Given the description of an element on the screen output the (x, y) to click on. 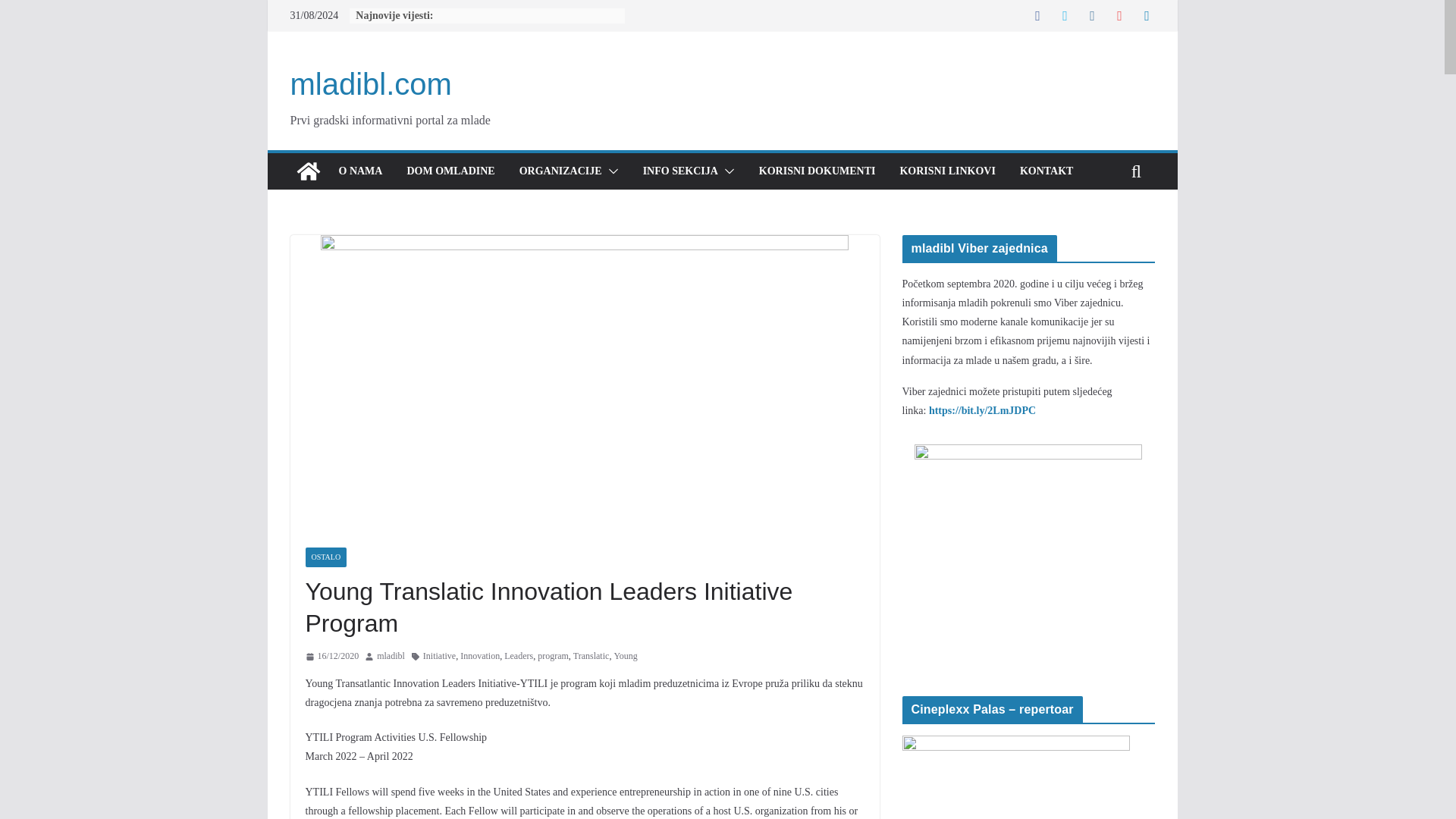
mladibl (390, 656)
Innovation (479, 656)
Leaders (517, 656)
KORISNI LINKOVI (946, 170)
INFO SEKCIJA (680, 170)
program (553, 656)
OSTALO (325, 557)
mladibl.com (307, 171)
Young (624, 656)
mladibl (390, 656)
